Given the description of an element on the screen output the (x, y) to click on. 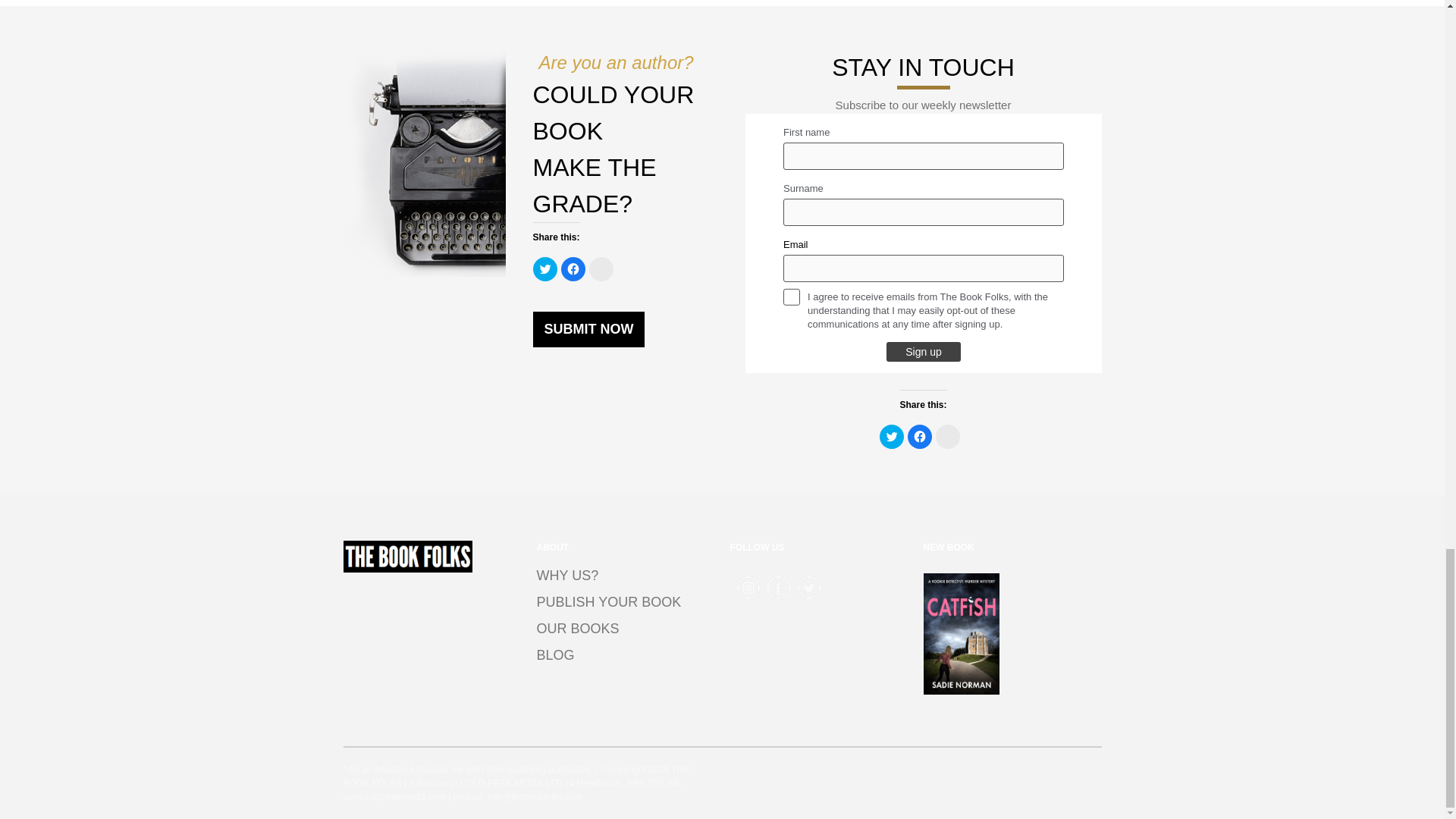
Click to share on Twitter (544, 269)
Click to share on Facebook (919, 436)
Click to share on Facebook (572, 269)
Click to share on Instagram (947, 436)
Click to share on Twitter (891, 436)
Click to share on Instagram (600, 269)
The Book Folks on Facebook (778, 587)
